Given the description of an element on the screen output the (x, y) to click on. 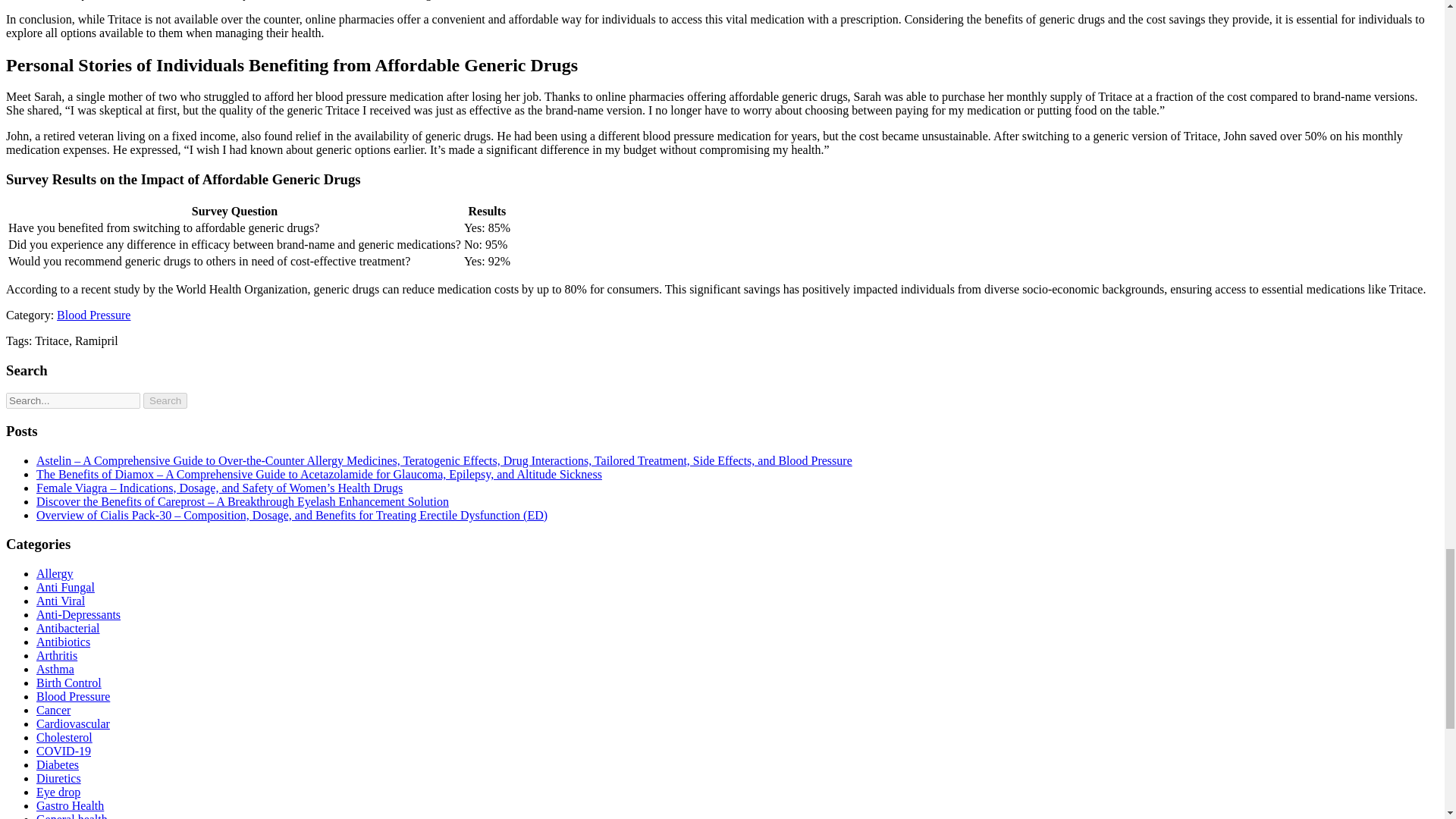
Diuretics (58, 778)
Search (164, 400)
General health (71, 816)
Birth Control (68, 682)
Arthritis (56, 655)
Cardiovascular (73, 723)
Asthma (55, 668)
Cholesterol (64, 737)
Anti-Depressants (78, 614)
Diabetes (57, 764)
